Given the description of an element on the screen output the (x, y) to click on. 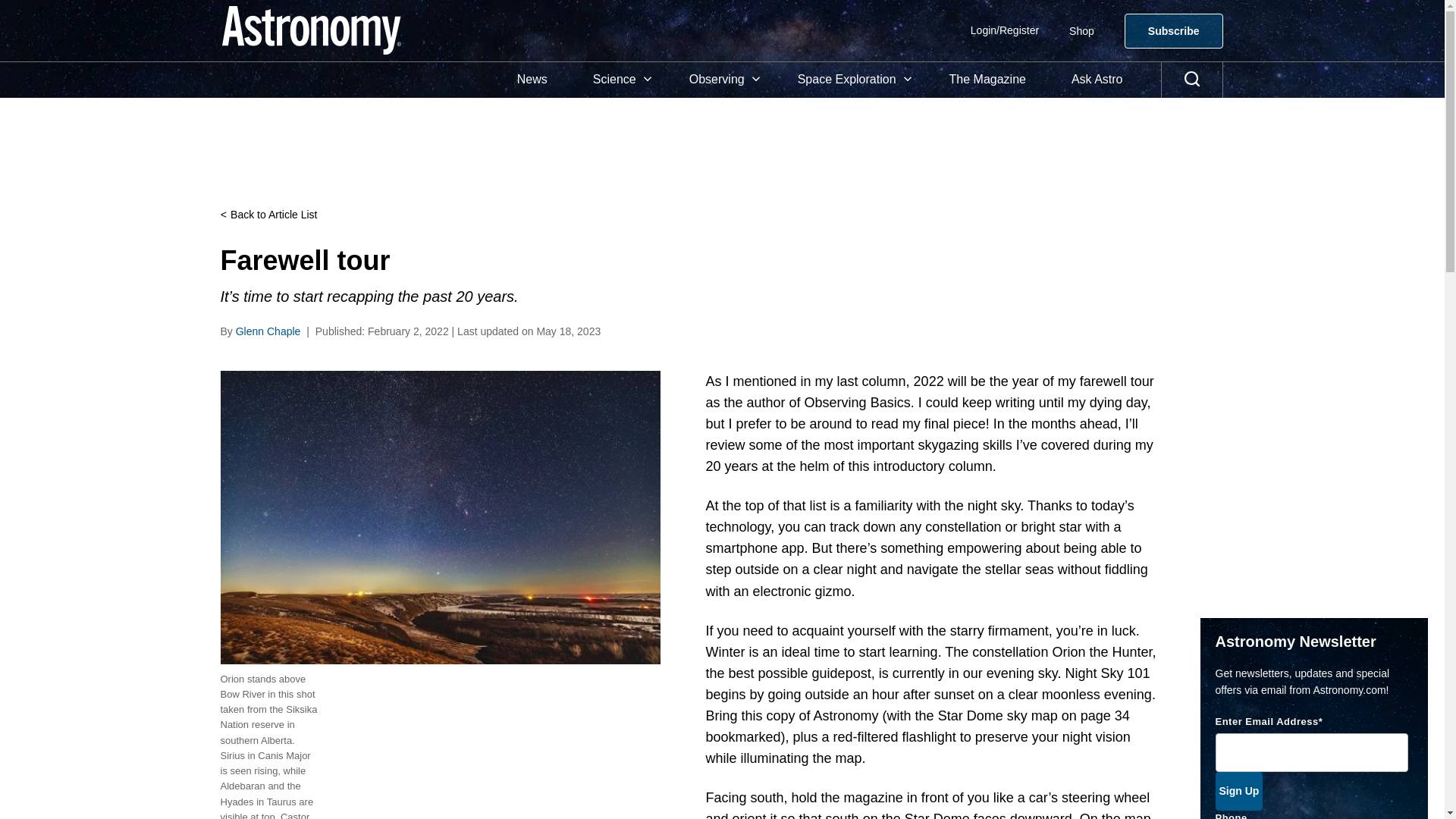
Sign Up (1238, 791)
Shop (1081, 30)
Science (618, 79)
The Magazine (987, 79)
Search (1192, 79)
Posts by Glenn Chaple (268, 331)
Space Exploration (850, 79)
Subscribe (1173, 30)
News (532, 79)
Observing (720, 79)
